Given the description of an element on the screen output the (x, y) to click on. 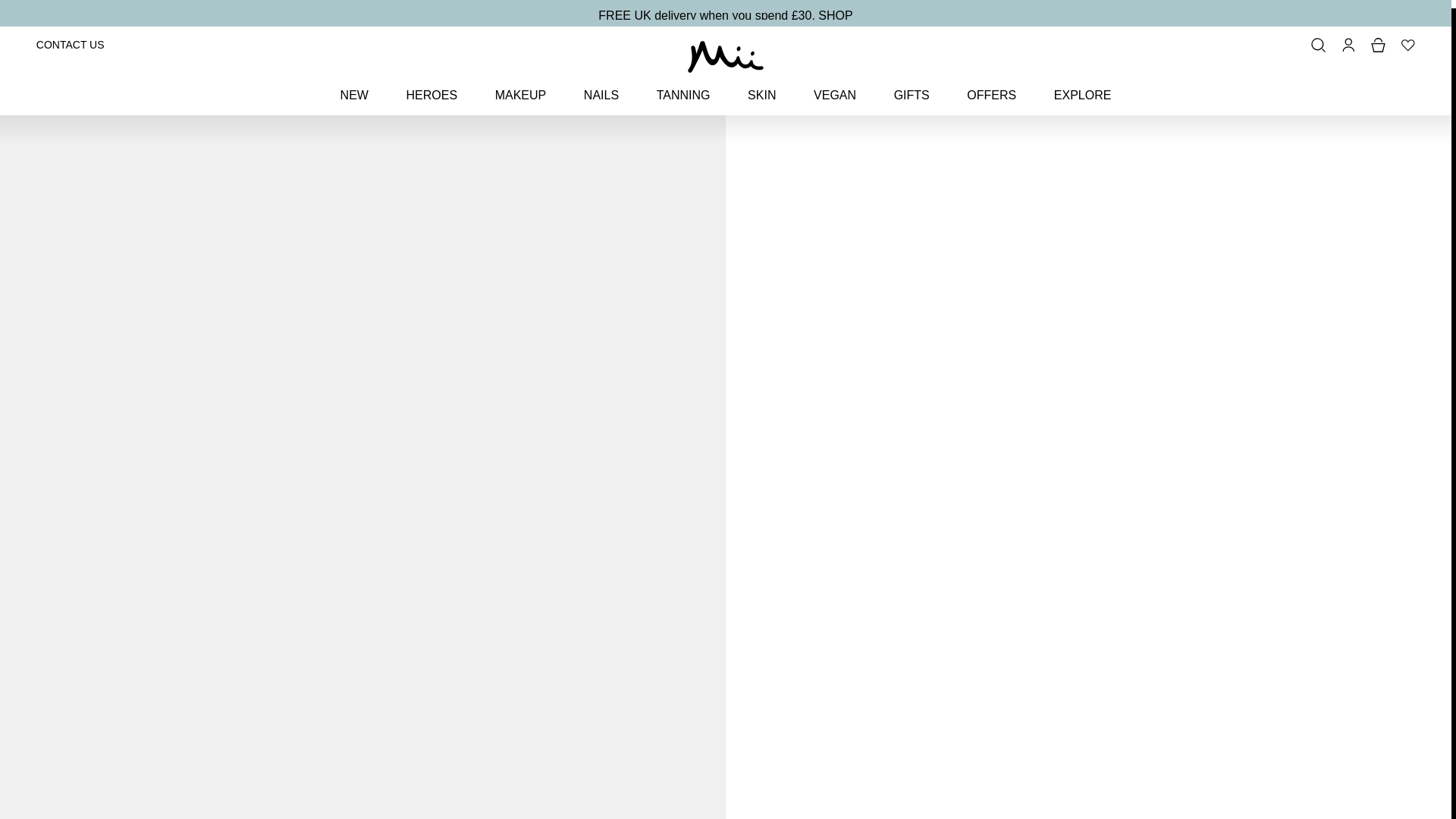
HEROES (431, 87)
CONTACT US (70, 36)
NEW (354, 87)
SHOP (834, 6)
MAKEUP (520, 87)
